Given the description of an element on the screen output the (x, y) to click on. 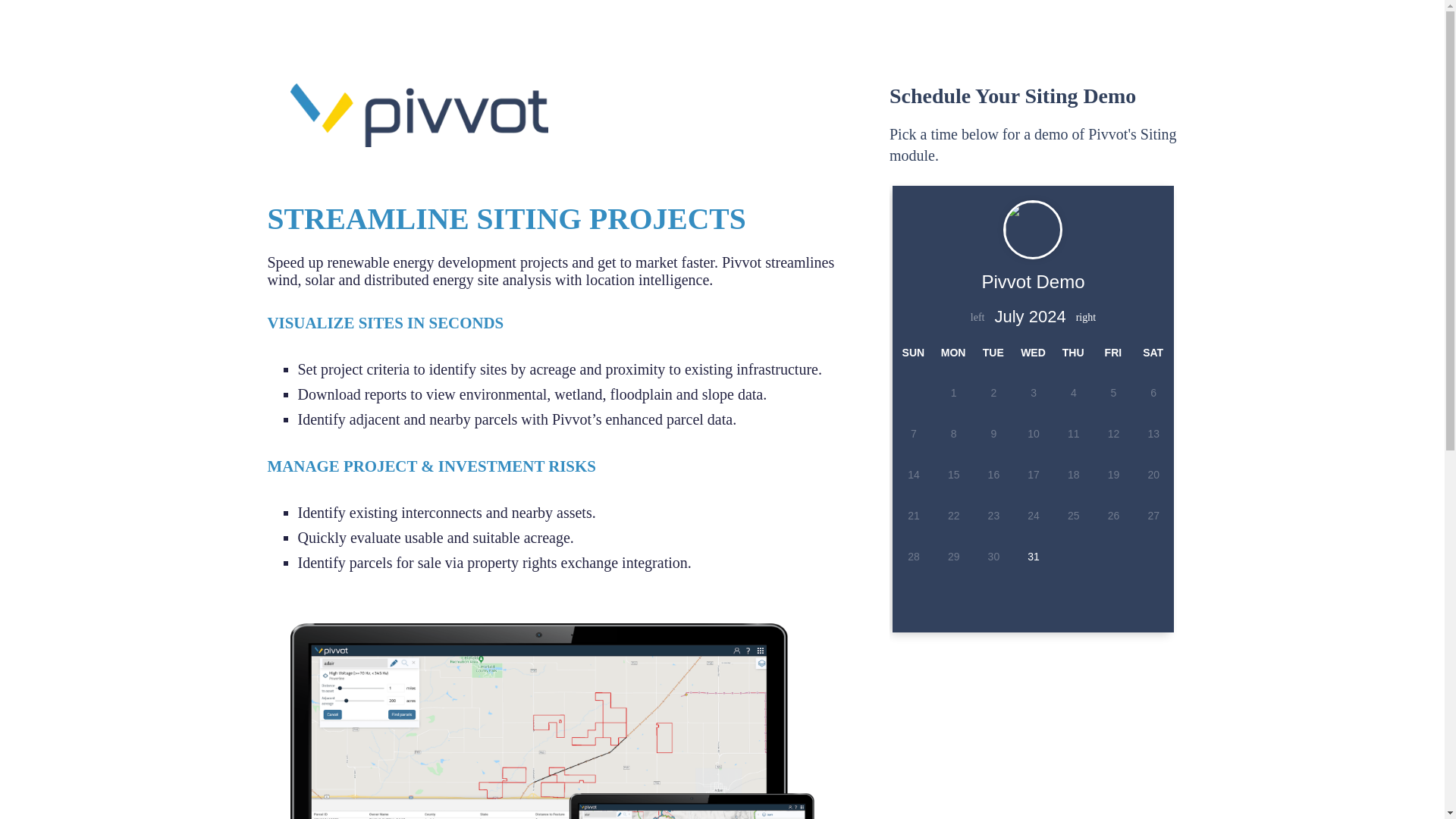
SitingPivvot (566, 709)
Pivvot-RGB (418, 114)
